Given the description of an element on the screen output the (x, y) to click on. 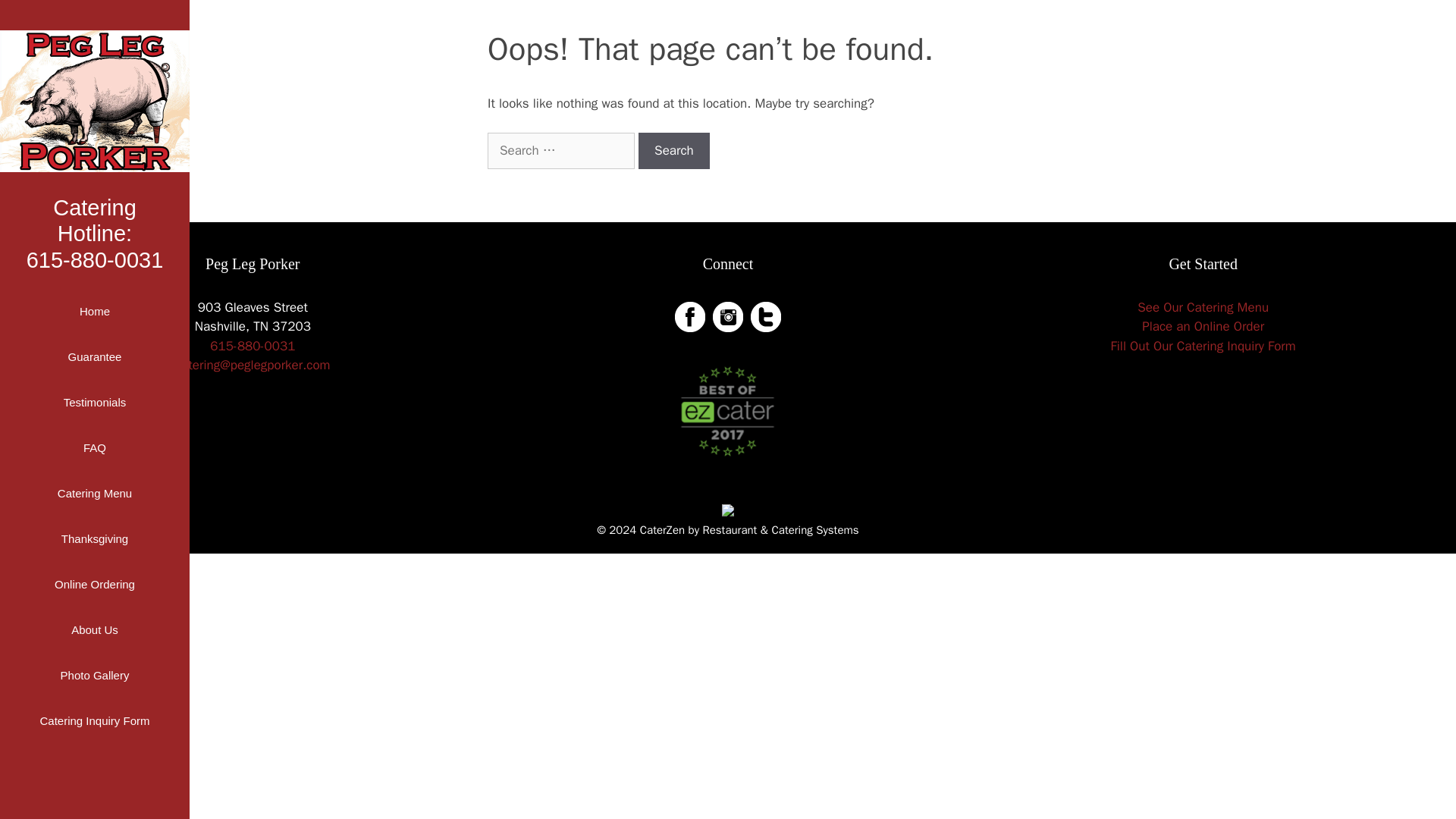
See Our Catering Menu (1202, 307)
Guarantee (94, 357)
Place an Online Order (1202, 326)
Catering Menu (94, 493)
FAQ (94, 233)
Search (94, 447)
Search (674, 150)
Fill Out Our Catering Inquiry Form (674, 150)
Search (1202, 345)
Peg Leg Porker (674, 150)
615-880-0031 (94, 100)
Testimonials (252, 345)
Home (94, 402)
Search for: (94, 311)
